Given the description of an element on the screen output the (x, y) to click on. 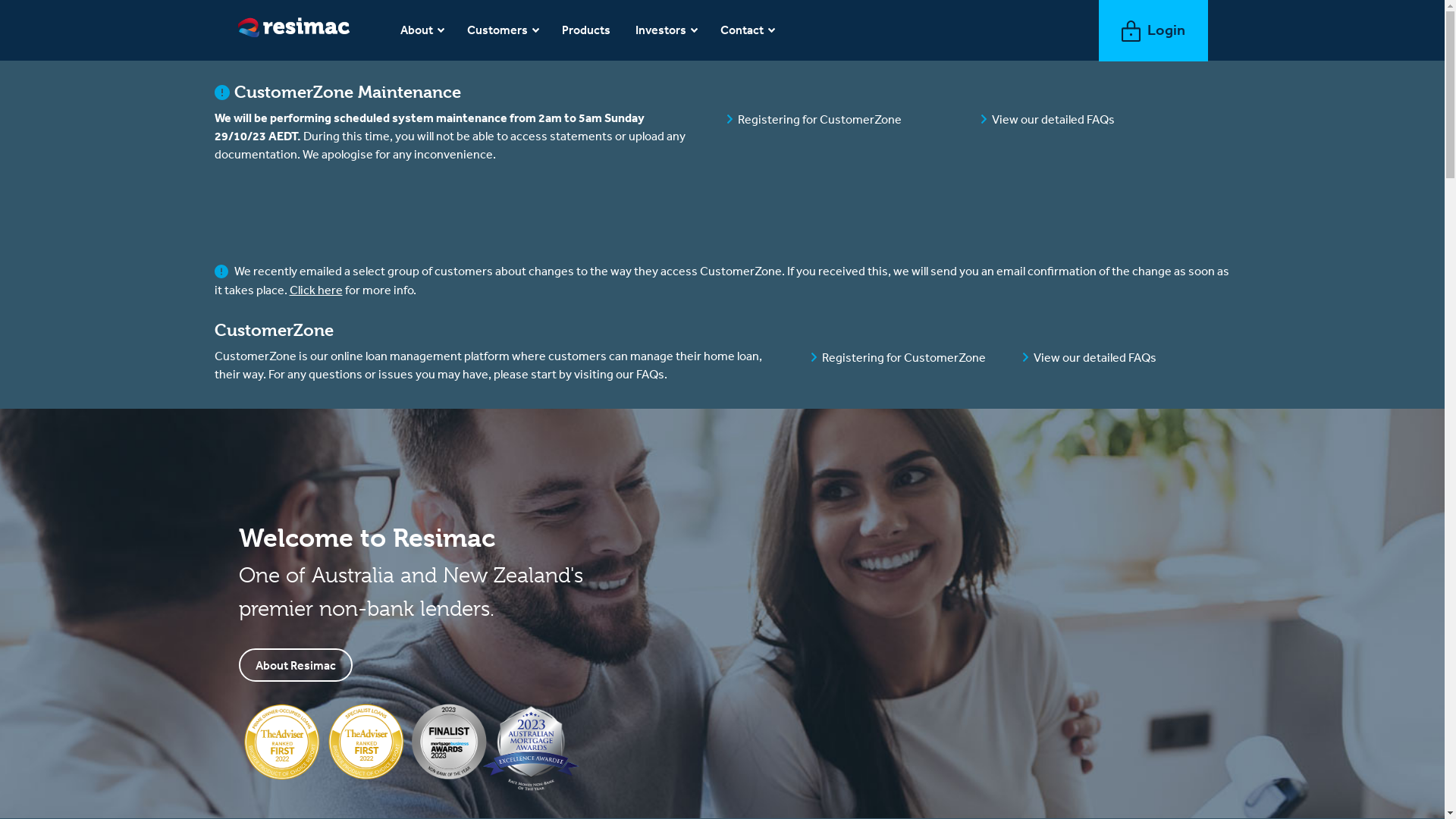
Click here Element type: text (315, 289)
View our detailed FAQs Element type: text (1052, 118)
Registering for CustomerZone Element type: text (818, 118)
Investors Element type: text (666, 30)
About Element type: text (422, 30)
Registering for CustomerZone Element type: text (903, 356)
Products Element type: text (586, 30)
View our detailed FAQs Element type: text (1094, 356)
Contact Element type: text (747, 30)
Customers Element type: text (503, 30)
About Resimac Element type: text (295, 664)
